Given the description of an element on the screen output the (x, y) to click on. 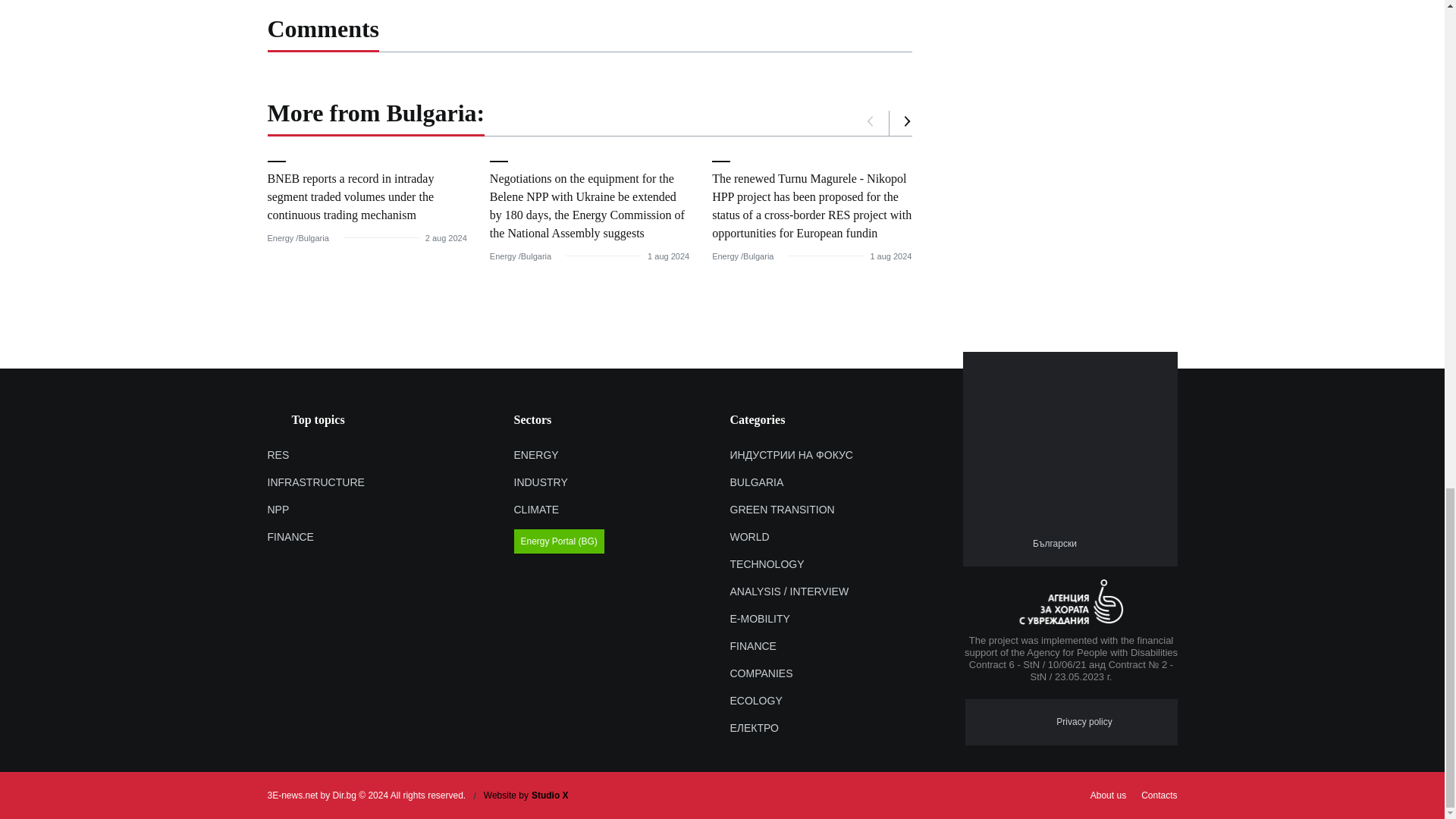
RSS (1122, 543)
Contacts (1159, 794)
Facebook (1095, 543)
Studio X (550, 795)
About us (1108, 794)
